Given the description of an element on the screen output the (x, y) to click on. 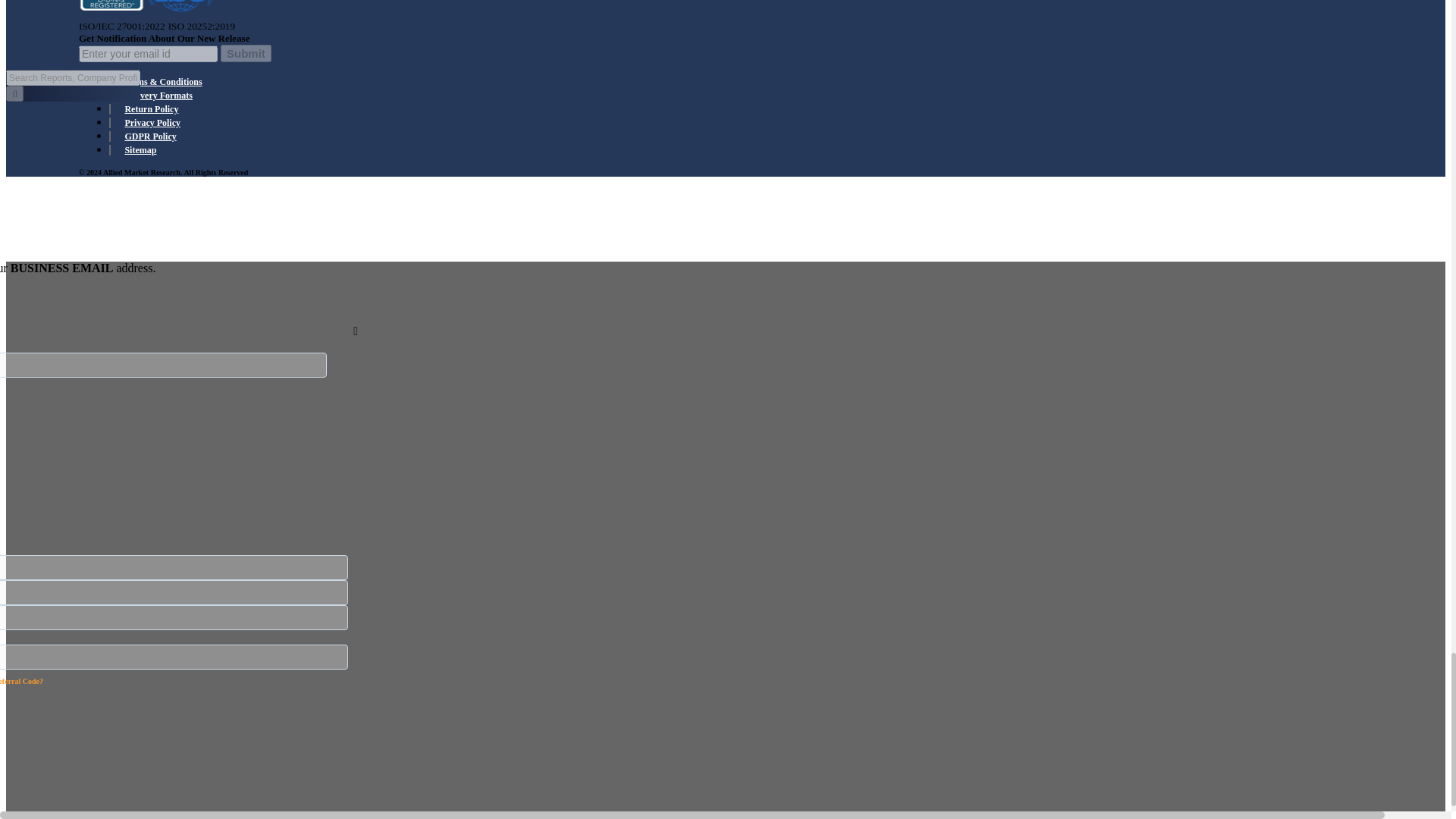
Duns and Bradstreet Registered Logo (111, 7)
